Given the description of an element on the screen output the (x, y) to click on. 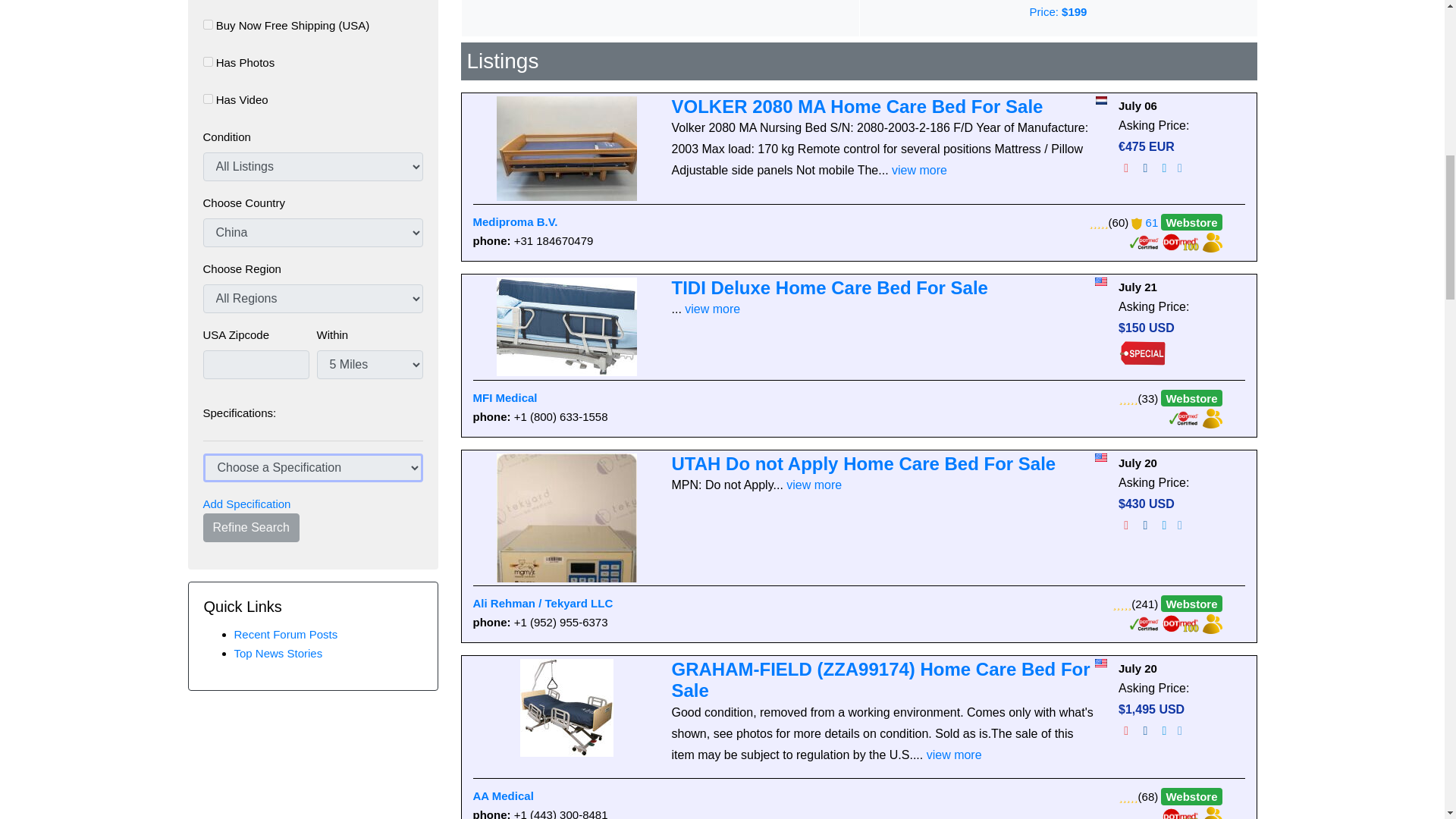
Visit My Virtual Trade Show Booth (1212, 417)
Visit My Virtual Trade Show Booth (1212, 241)
Visit My Virtual Trade Show Booth (1212, 814)
This User is part of the DOTmed 100 (1181, 622)
This User is part of the DOTmed 100 (1181, 241)
1 (207, 99)
This User is part of the DOTmed 100 (1181, 814)
1 (207, 61)
This User is DOTmed Certified (1145, 622)
Refine Search (251, 527)
Dealer Pricing (1142, 353)
This User is DOTmed Certified (1185, 417)
Visit My Virtual Trade Show Booth (1212, 622)
This User is DOTmed Certified (1145, 241)
1 (207, 24)
